Given the description of an element on the screen output the (x, y) to click on. 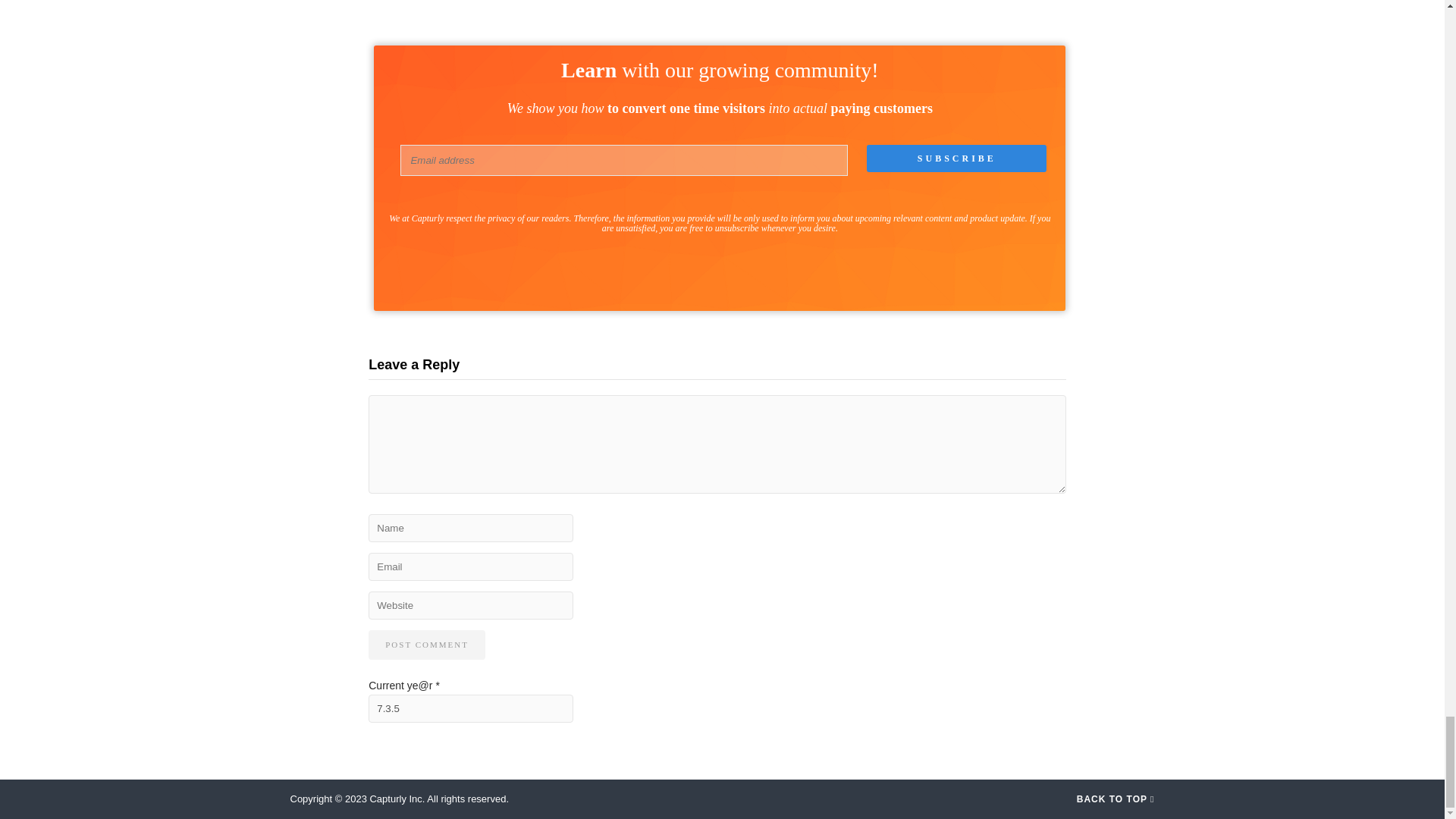
7.3.5 (470, 708)
Post Comment (426, 644)
Subscribe (956, 157)
